Given the description of an element on the screen output the (x, y) to click on. 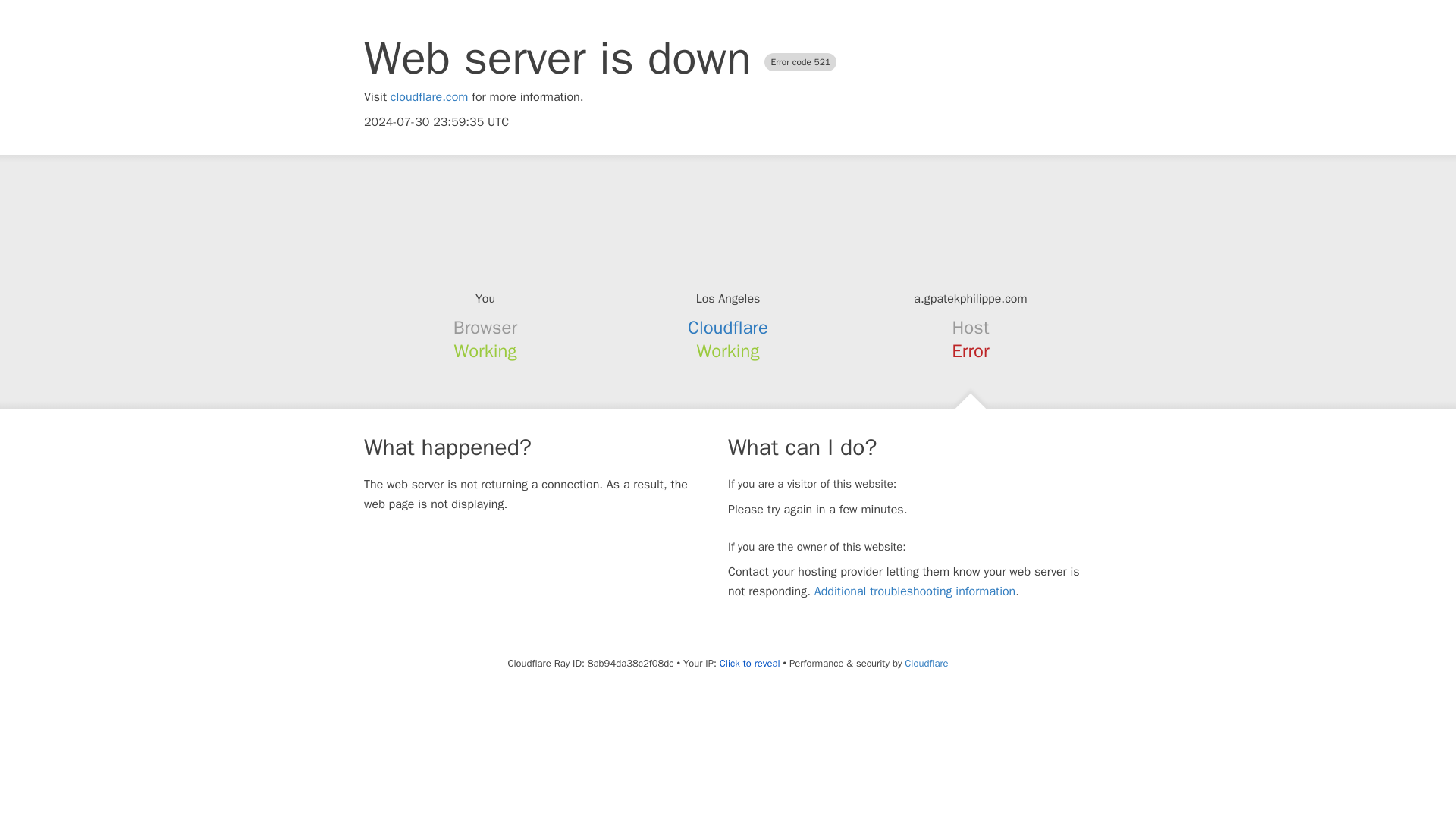
Additional troubleshooting information (913, 590)
Cloudflare (925, 662)
Cloudflare (727, 327)
Click to reveal (749, 663)
cloudflare.com (429, 96)
